Given the description of an element on the screen output the (x, y) to click on. 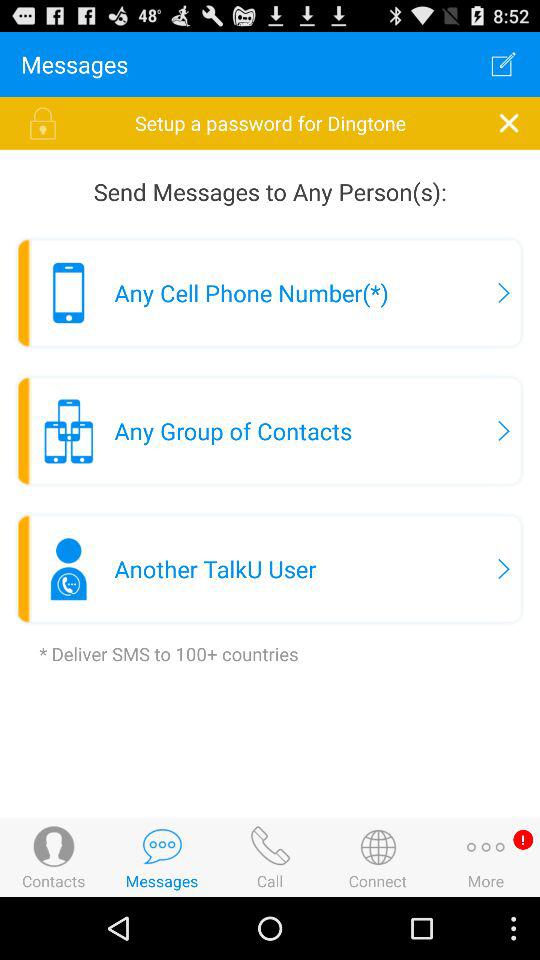
press app above the setup a password app (503, 63)
